Given the description of an element on the screen output the (x, y) to click on. 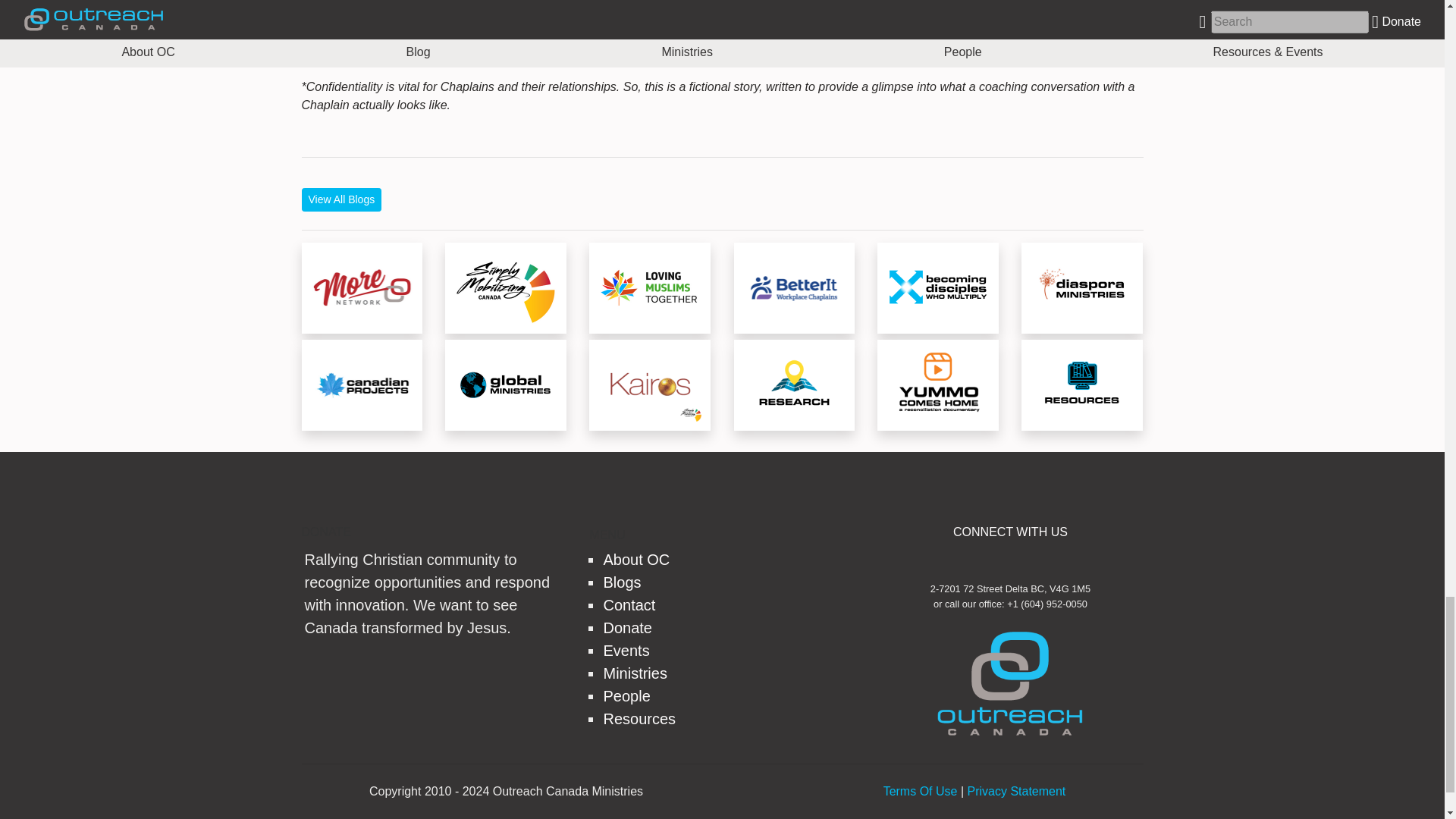
Blogs (621, 582)
Donate (627, 627)
View All Blogs (341, 199)
About OC (635, 559)
Events (625, 650)
Contact (628, 605)
